Given the description of an element on the screen output the (x, y) to click on. 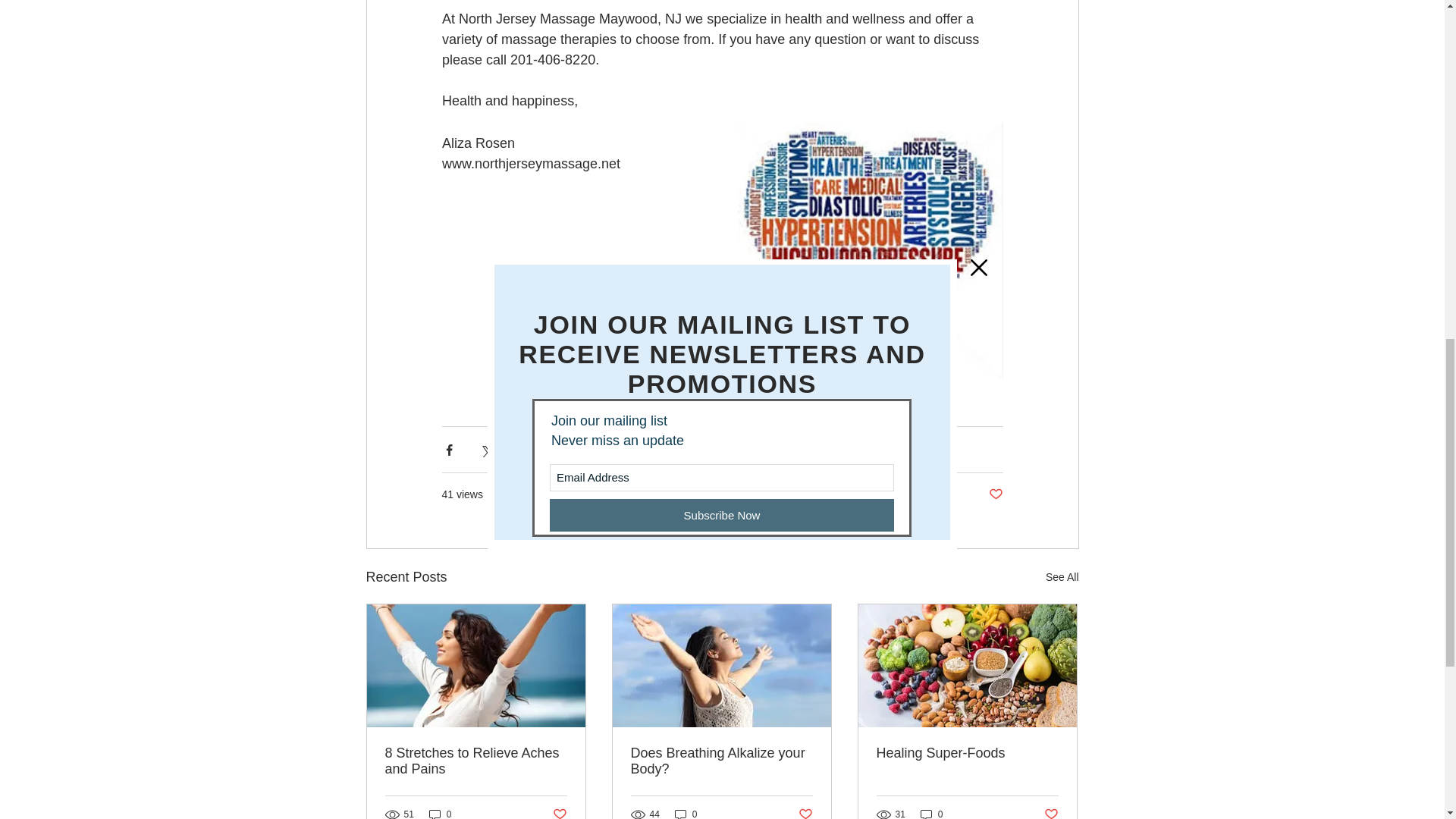
Post not marked as liked (804, 812)
Does Breathing Alkalize your Body? (721, 761)
8 Stretches to Relieve Aches and Pains (476, 761)
Post not marked as liked (995, 494)
See All (1061, 577)
0 (440, 813)
Healing Super-Foods (967, 753)
Post not marked as liked (558, 812)
0 (685, 813)
Post not marked as liked (1050, 812)
0 (931, 813)
